Given the description of an element on the screen output the (x, y) to click on. 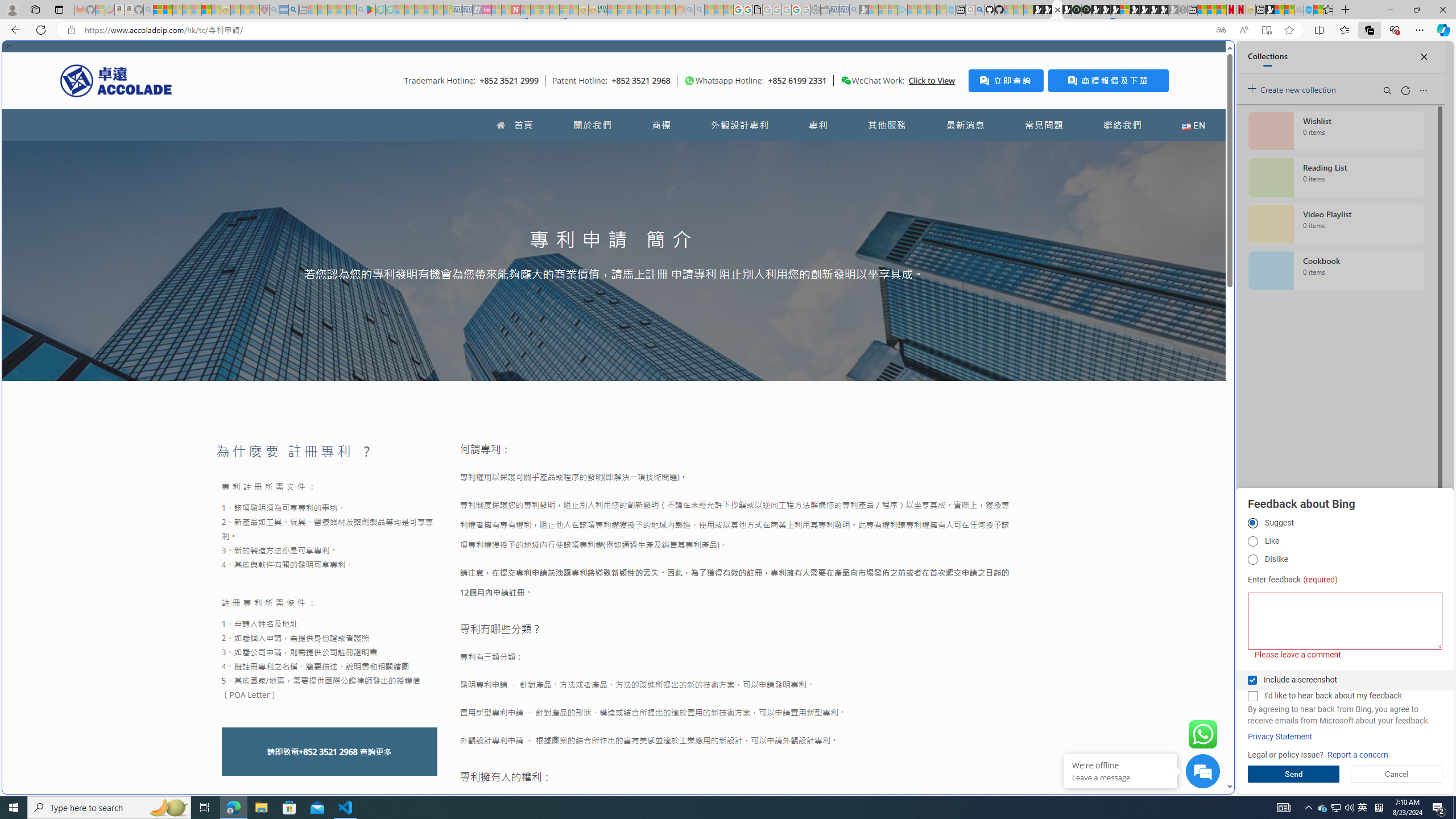
Show translate options (1220, 29)
Class: desktop (845, 80)
Local - MSN - Sleeping (254, 9)
Like (1252, 541)
Home | Sky Blue Bikes - Sky Blue Bikes - Sleeping (950, 9)
Cheap Hotels - Save70.com - Sleeping (467, 9)
Accolade IP HK Logo (116, 80)
